Given the description of an element on the screen output the (x, y) to click on. 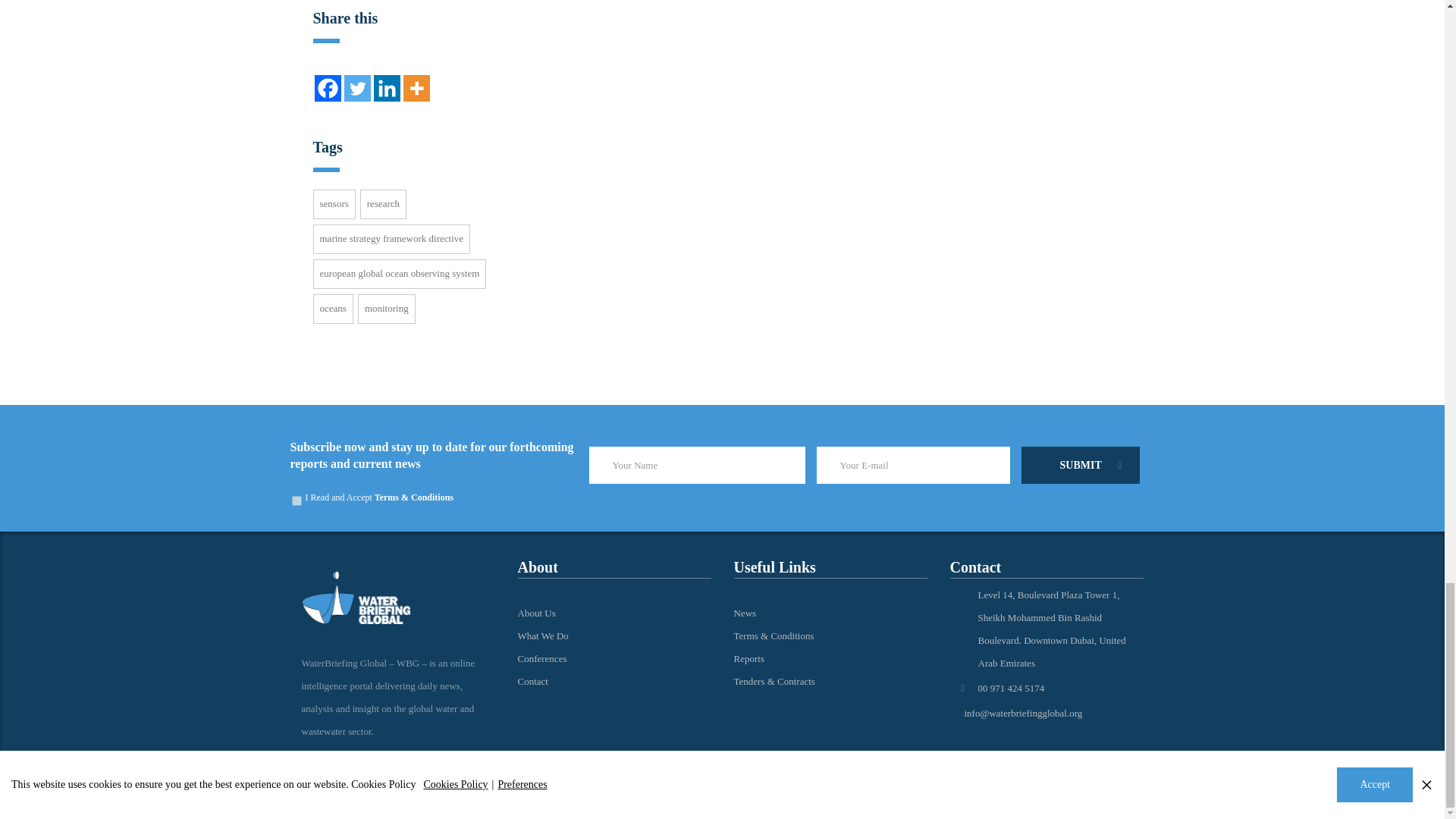
on (296, 501)
Twitter (357, 88)
Facebook (327, 88)
More (416, 88)
Linkedin (385, 88)
